Given the description of an element on the screen output the (x, y) to click on. 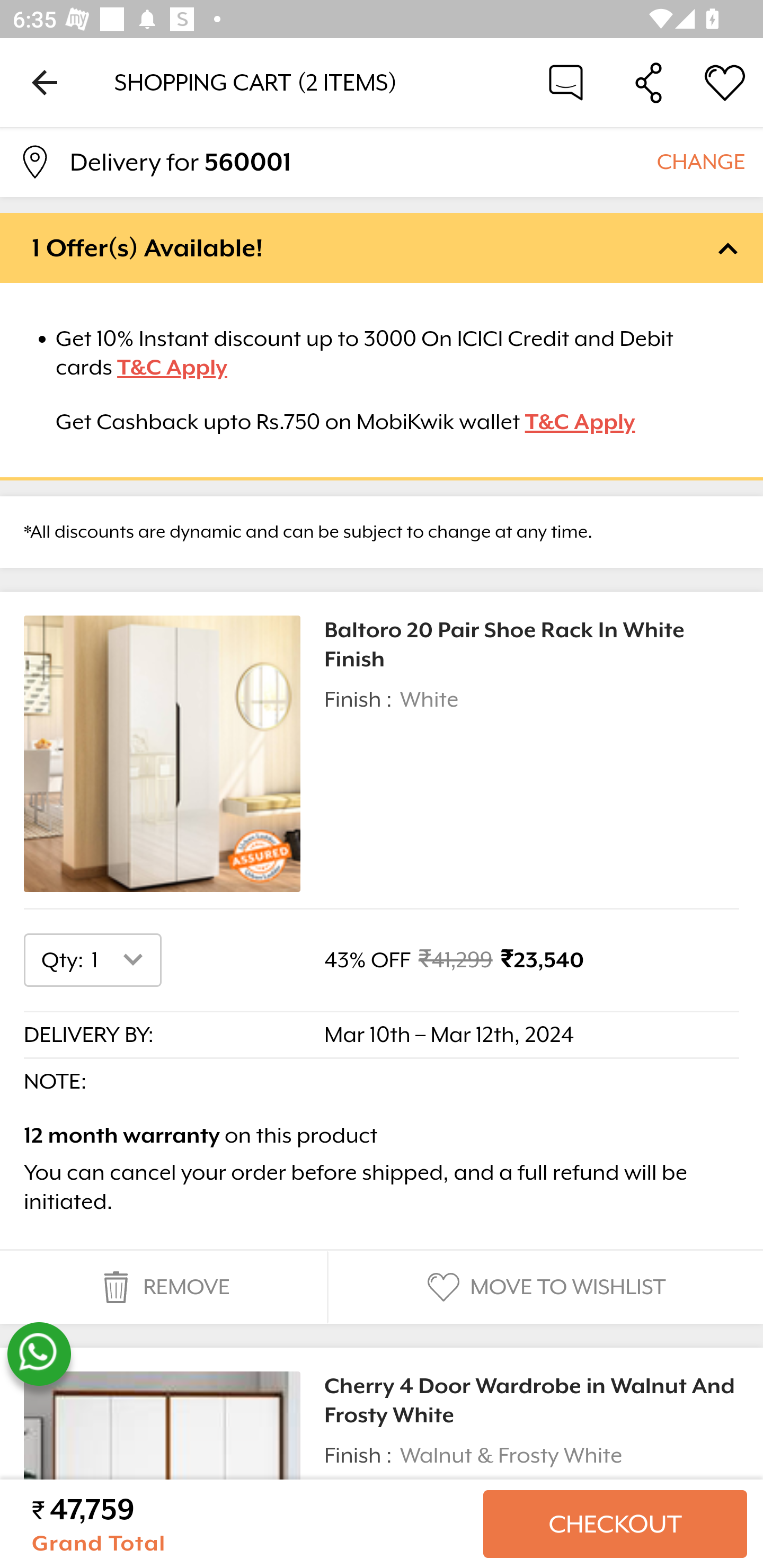
Navigate up (44, 82)
Chat (565, 81)
Share Cart (648, 81)
Wishlist (724, 81)
CHANGE (700, 161)
1 Offer(s) Available! (381, 247)
1 (121, 959)
REMOVE (163, 1287)
MOVE TO WISHLIST (544, 1287)
whatsapp (38, 1353)
₹ 47,759 Grand Total (250, 1523)
CHECKOUT (614, 1523)
